Given the description of an element on the screen output the (x, y) to click on. 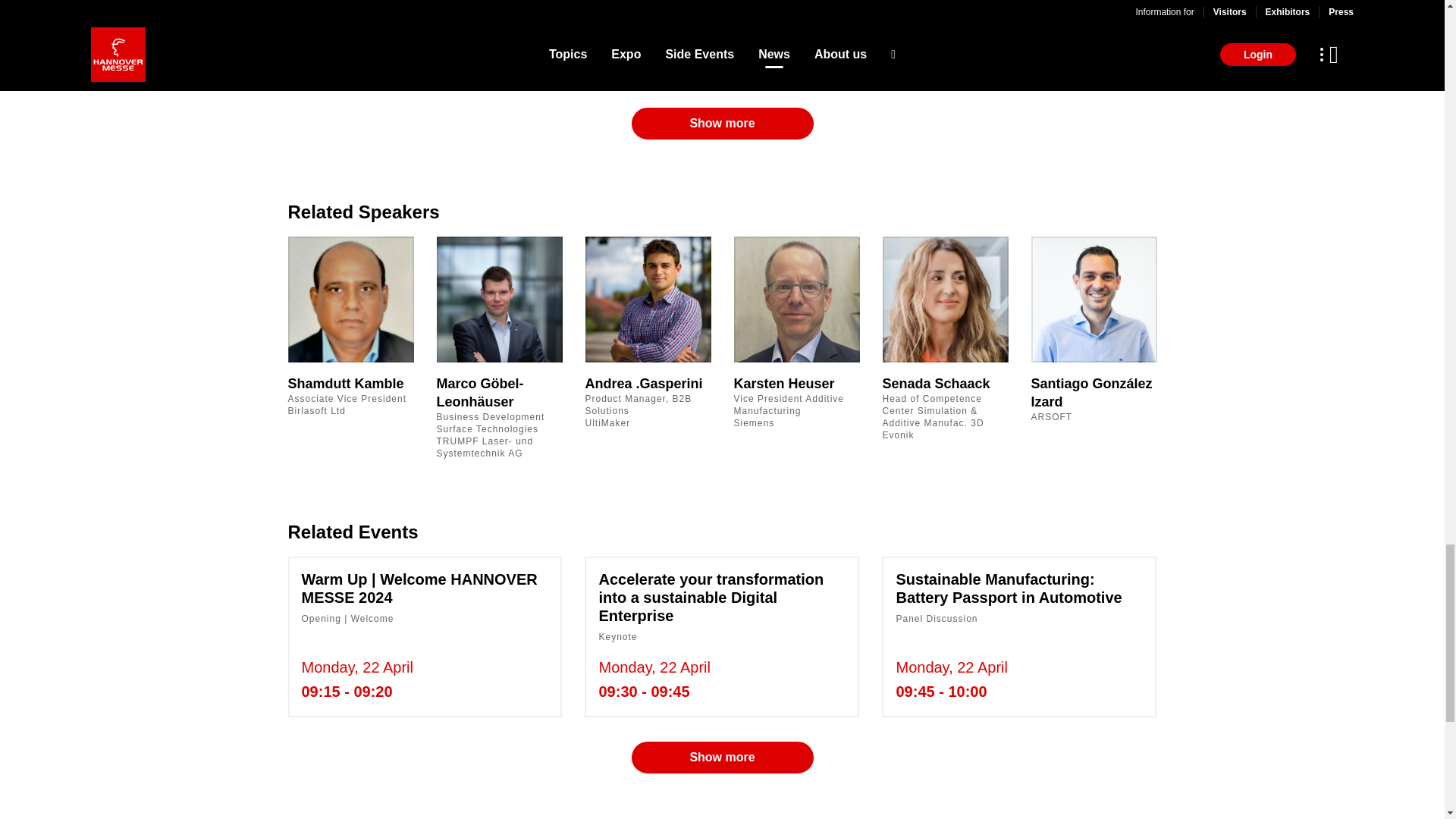
Show more (721, 123)
Mark3D GmbH (1086, 47)
alphacam (352, 47)
Toray Precision (792, 47)
Keyence Deutschland (498, 47)
maxon international (939, 47)
